Given the description of an element on the screen output the (x, y) to click on. 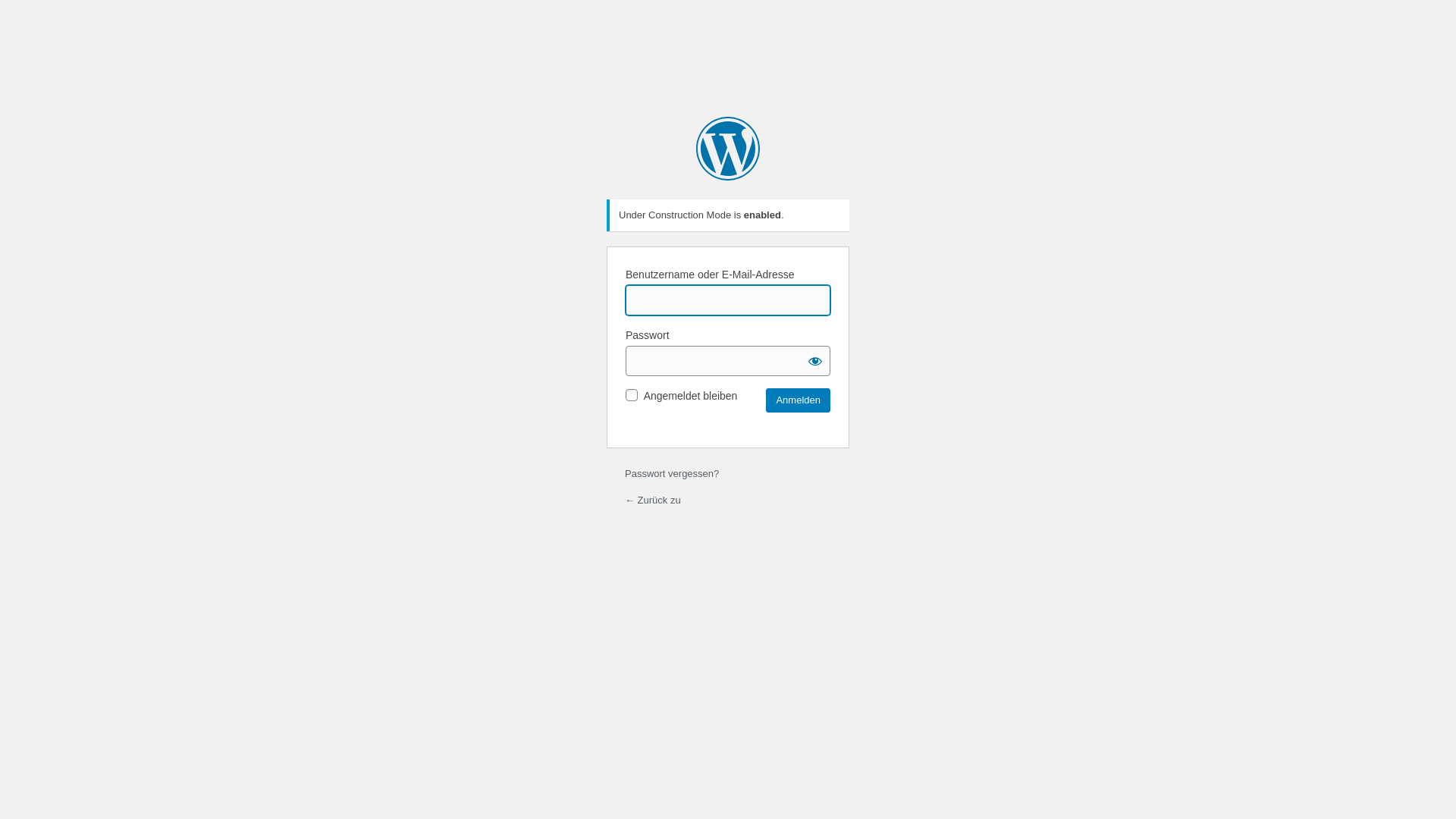
Anmelden Element type: text (797, 400)
Passwort vergessen? Element type: text (671, 473)
Powered by WordPress Element type: text (727, 148)
